Given the description of an element on the screen output the (x, y) to click on. 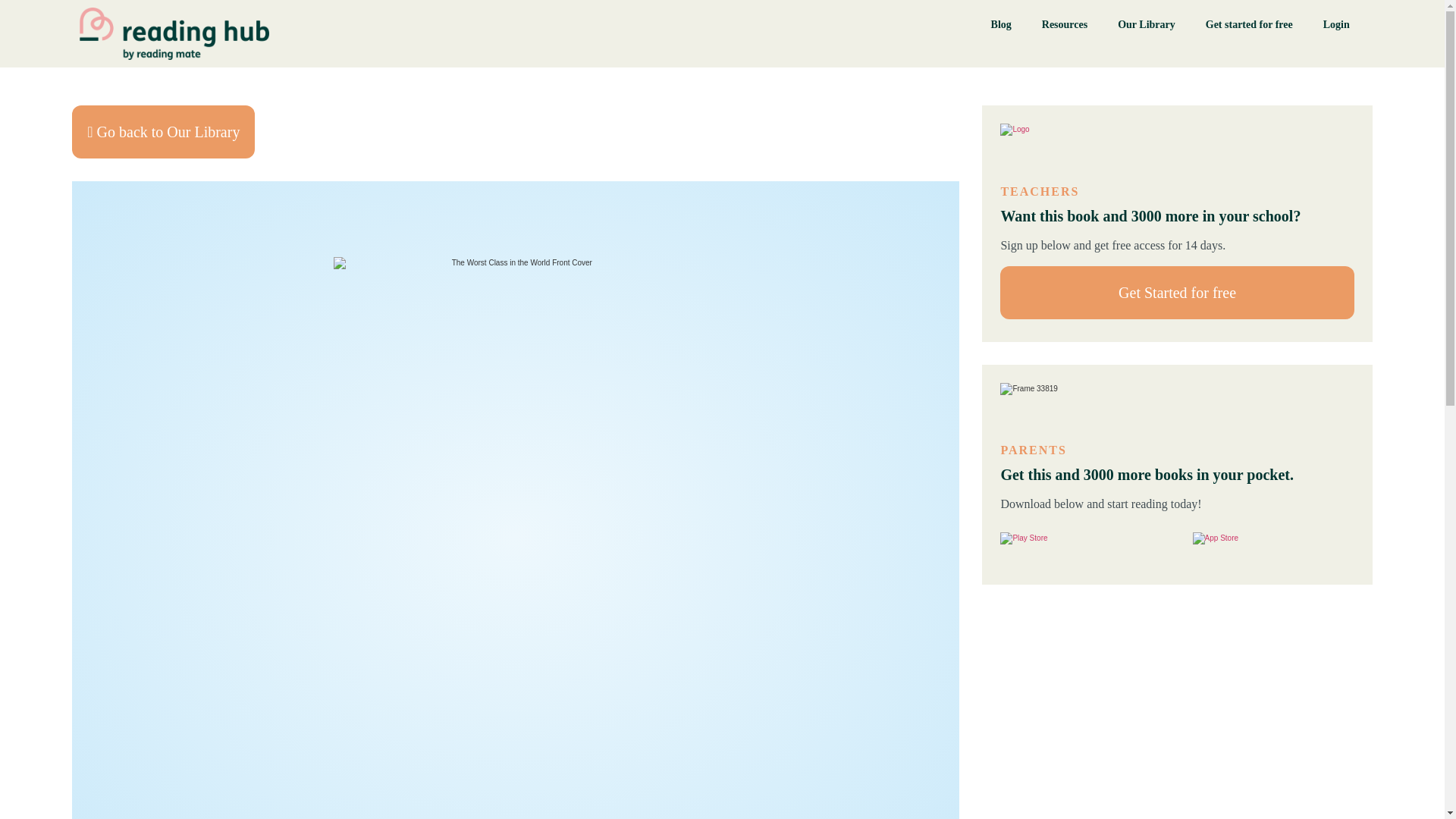
Our Library (1146, 24)
Resources (1064, 24)
Login (1336, 24)
Blog (1000, 24)
Get started for free (1249, 24)
